Given the description of an element on the screen output the (x, y) to click on. 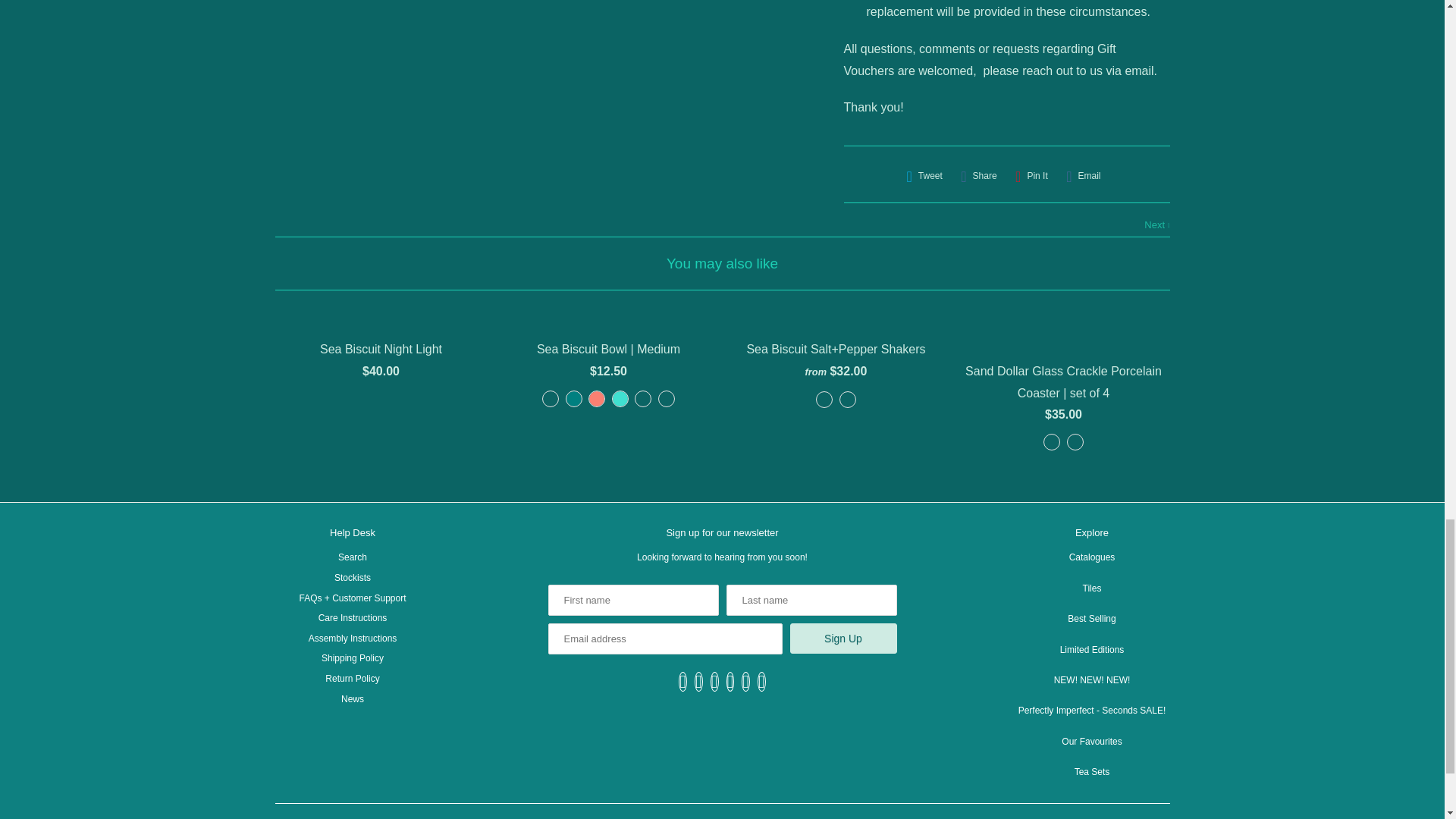
Email this to a friend (1083, 176)
Share this on Twitter (923, 176)
Share this on Pinterest (1031, 176)
Sign Up (843, 638)
Share this on Facebook (978, 176)
